Given the description of an element on the screen output the (x, y) to click on. 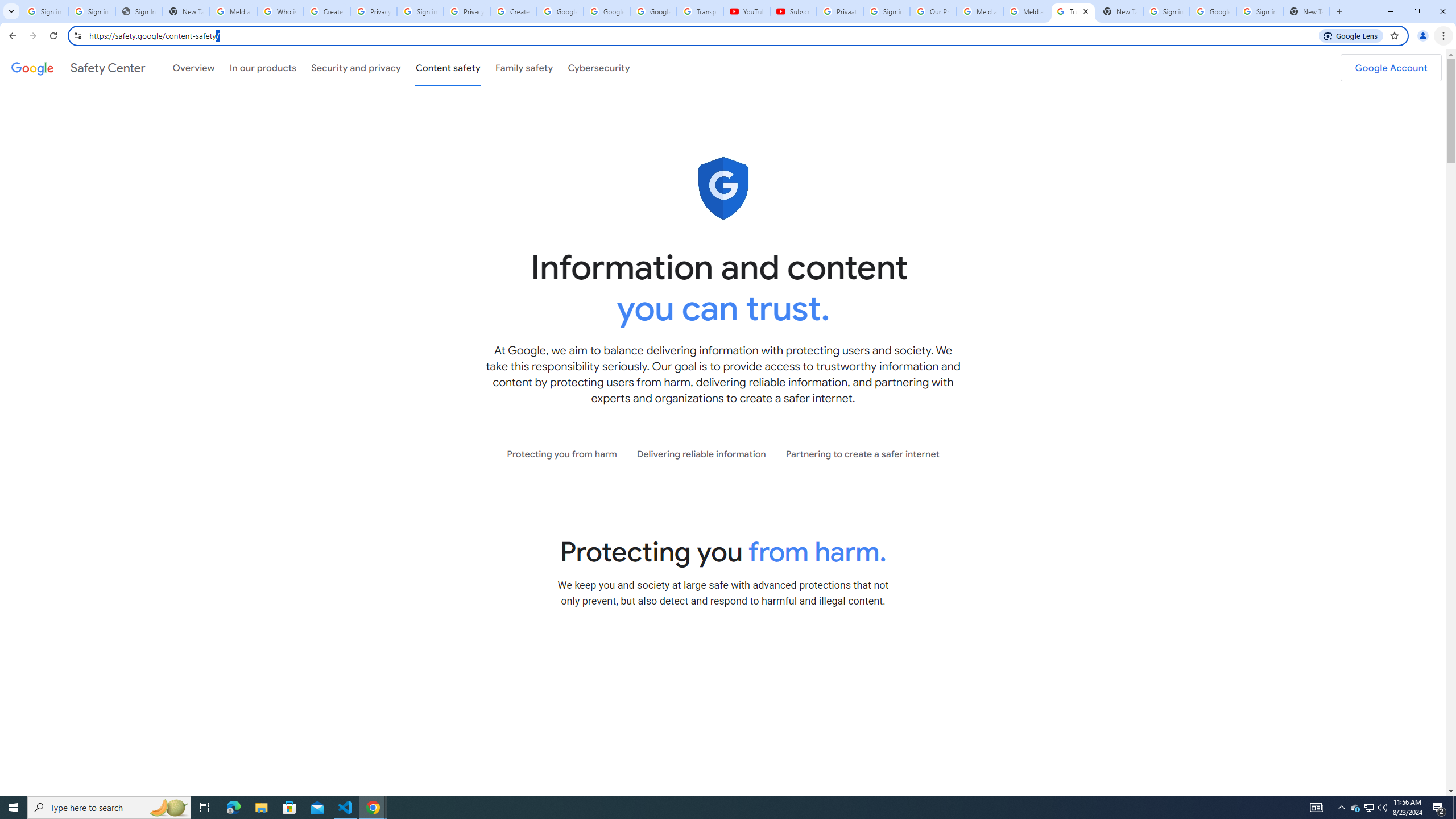
Family safety (523, 67)
Google Cybersecurity Innovations - Google Safety Center (1213, 11)
YouTube (745, 11)
